Given the description of an element on the screen output the (x, y) to click on. 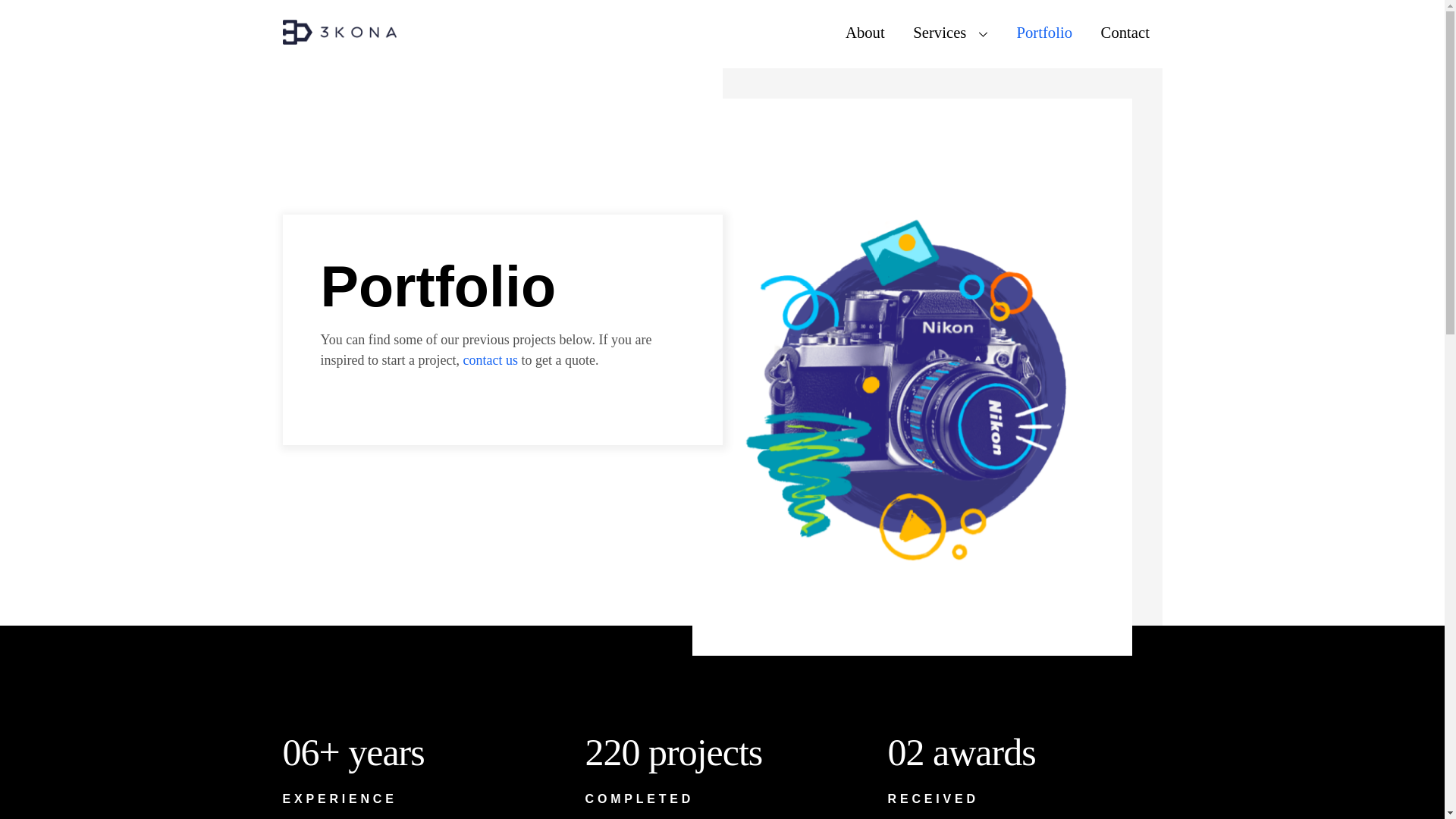
Contact Element type: text (1124, 33)
About Element type: text (864, 33)
Portfolio Element type: text (1044, 33)
3KONA Element type: hover (338, 36)
Services Element type: text (950, 33)
3KONA Logo New Element type: hover (338, 31)
contact us Element type: text (489, 359)
No_Images_-_Light Element type: hover (911, 376)
